Given the description of an element on the screen output the (x, y) to click on. 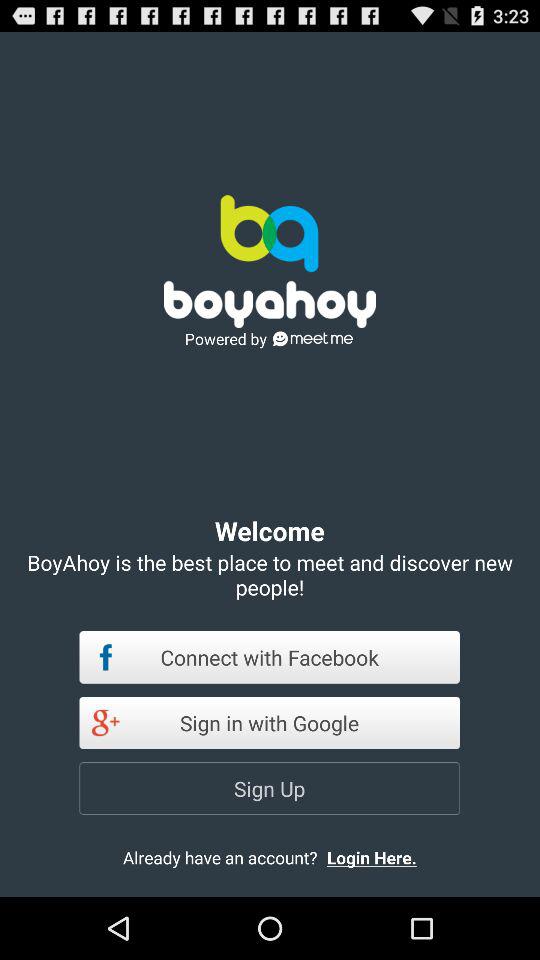
open connect with facebook app (269, 657)
